Given the description of an element on the screen output the (x, y) to click on. 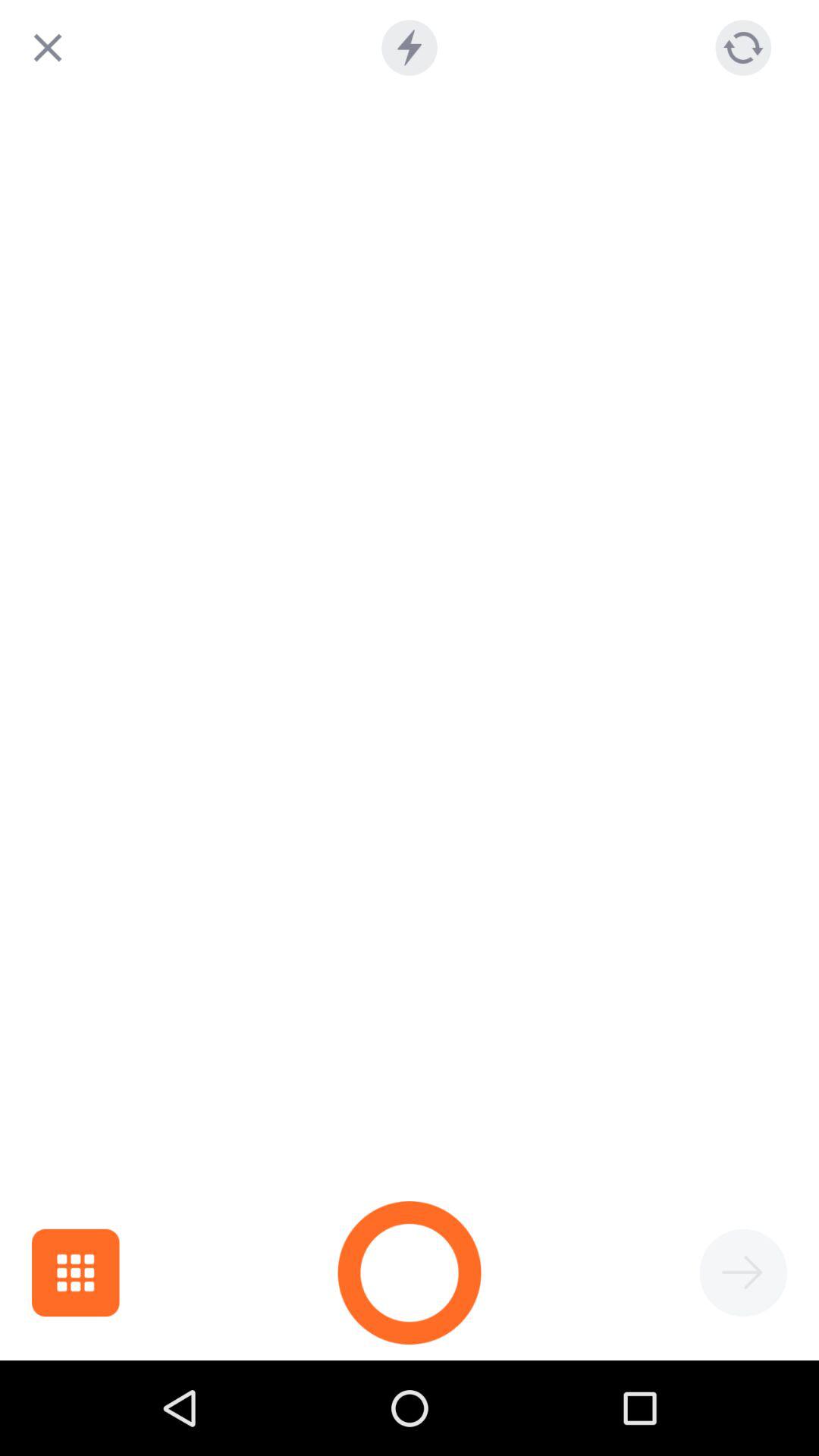
go forward (743, 1272)
